Given the description of an element on the screen output the (x, y) to click on. 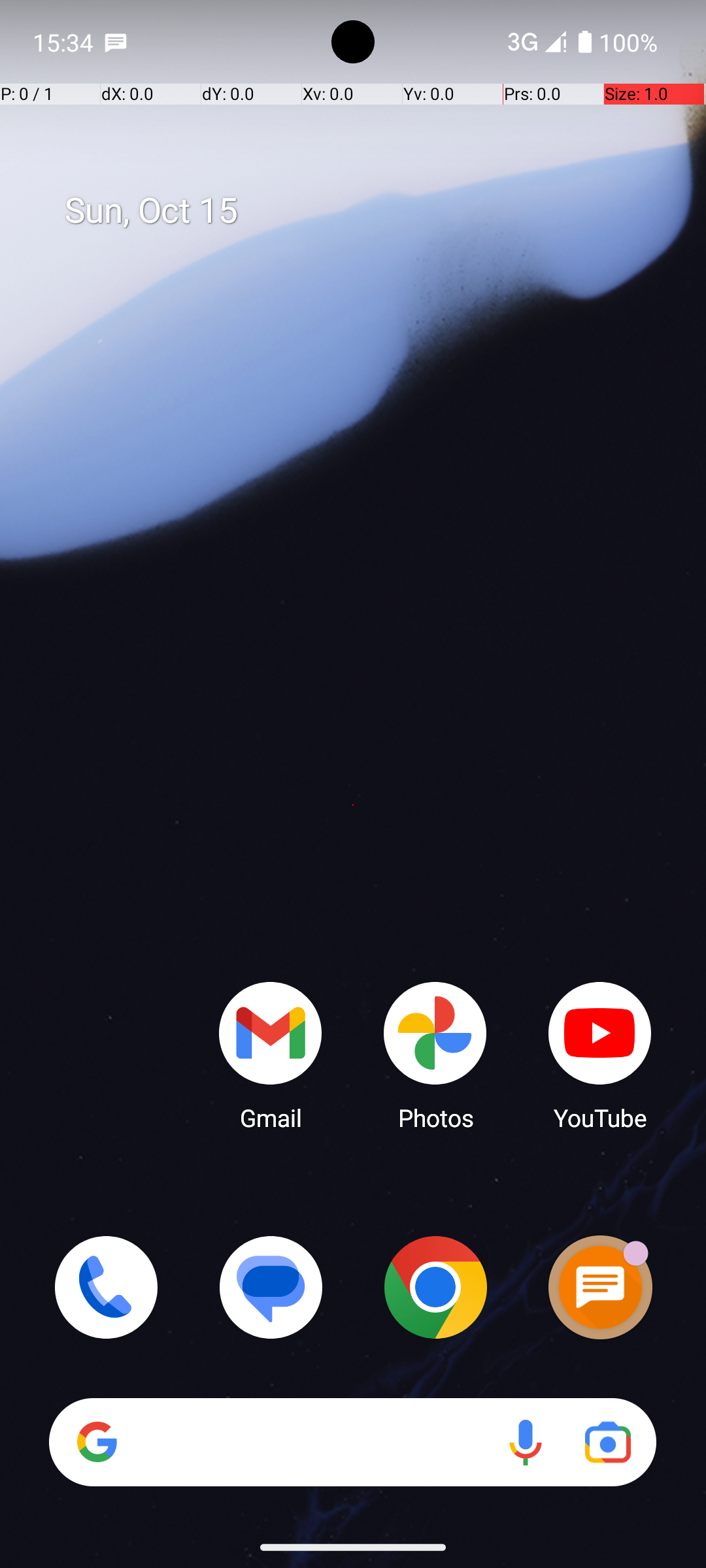
SMS Messenger Element type: android.widget.TextView (599, 1287)
